Given the description of an element on the screen output the (x, y) to click on. 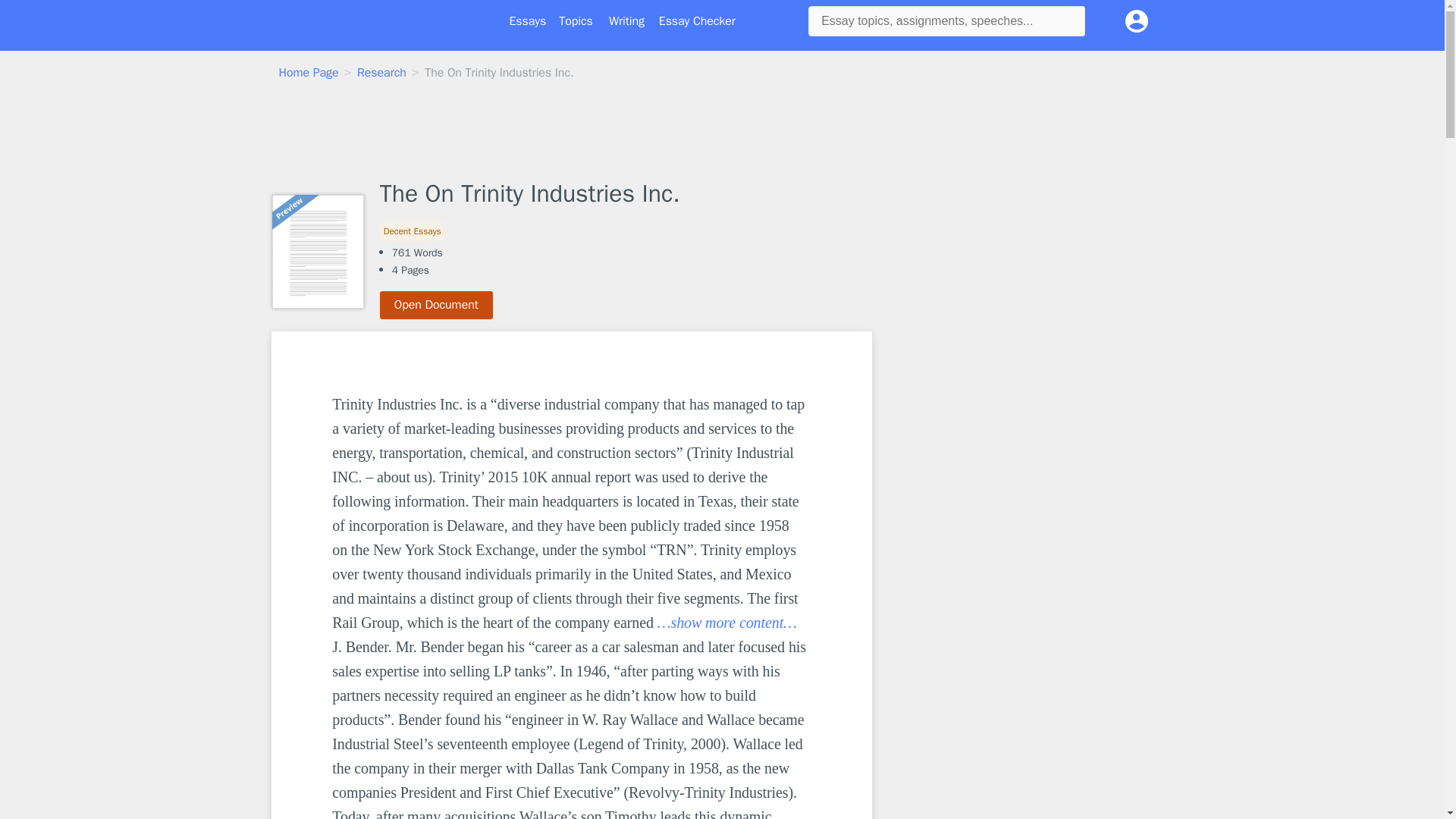
Home Page (309, 72)
Essays (528, 20)
Writing (626, 20)
Research (381, 72)
Topics (575, 20)
Essay Checker (697, 20)
Open Document (436, 305)
